Given the description of an element on the screen output the (x, y) to click on. 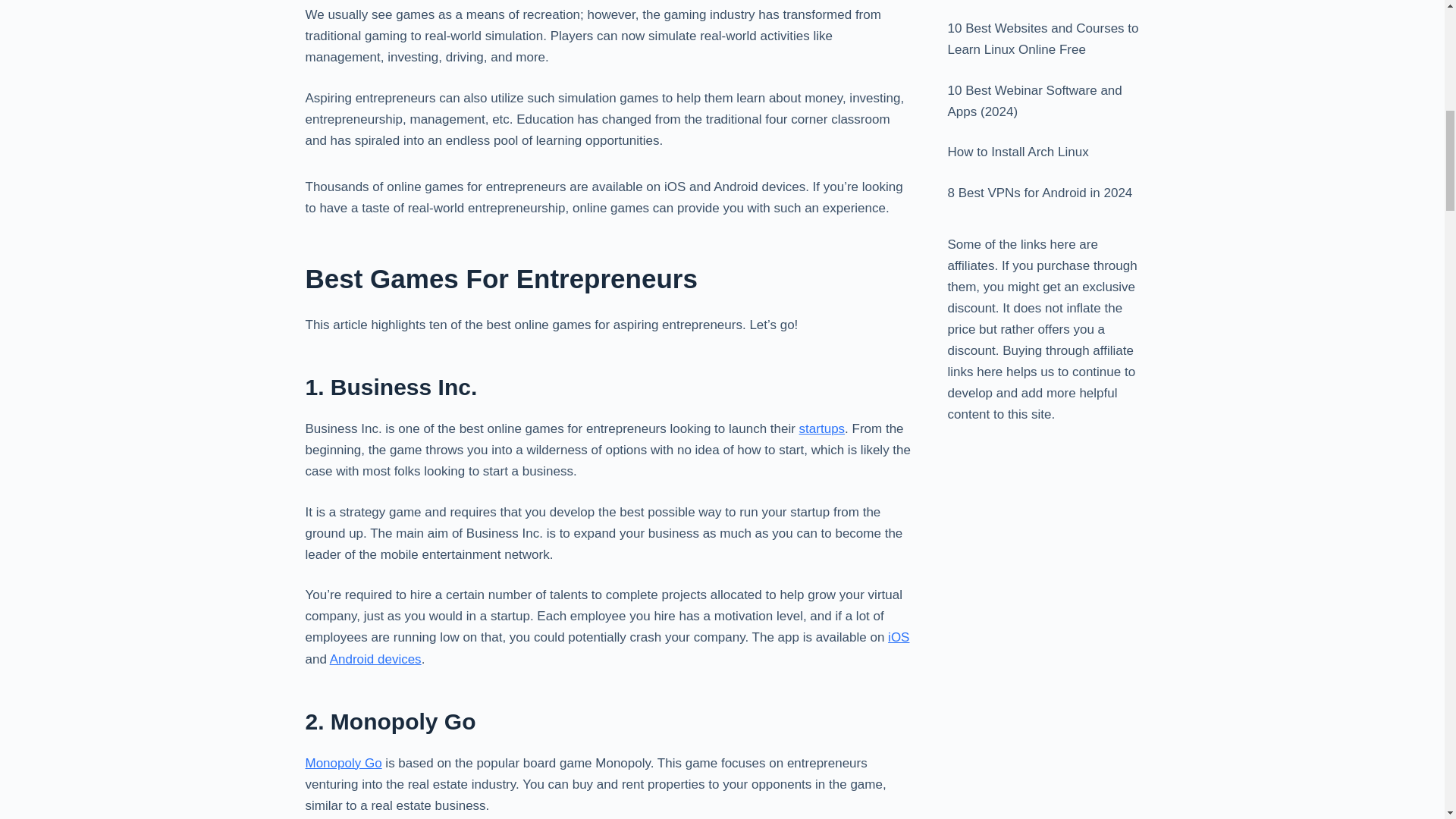
iOS (898, 636)
Android devices (376, 658)
Monopoly Go (342, 762)
startups (821, 428)
Startups (821, 428)
